Given the description of an element on the screen output the (x, y) to click on. 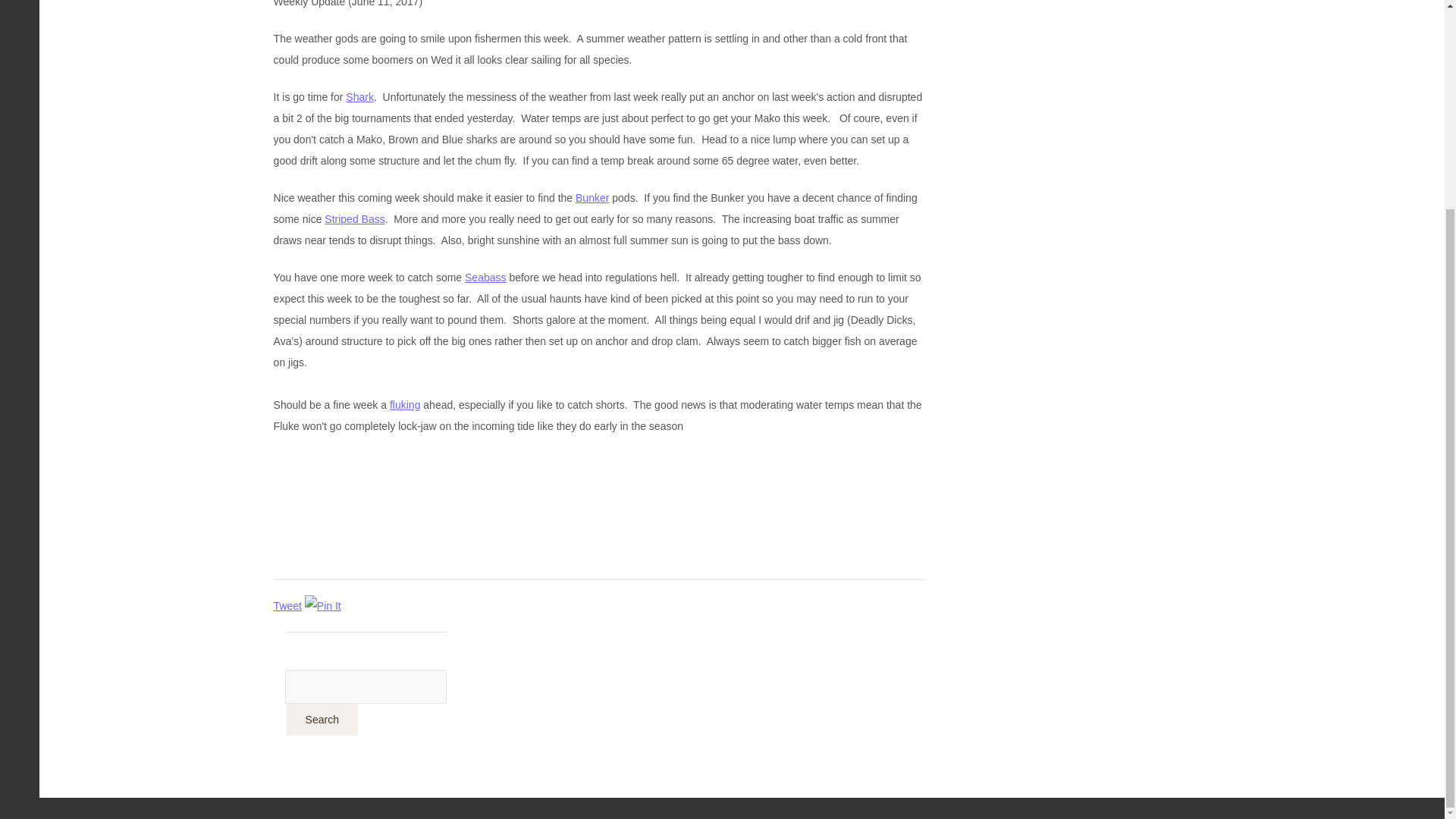
Striped Bass (354, 218)
Tweet (287, 605)
Search (322, 719)
fluking (405, 404)
Shark (360, 96)
Search (322, 719)
Seabass (484, 277)
Bunker (591, 197)
